Given the description of an element on the screen output the (x, y) to click on. 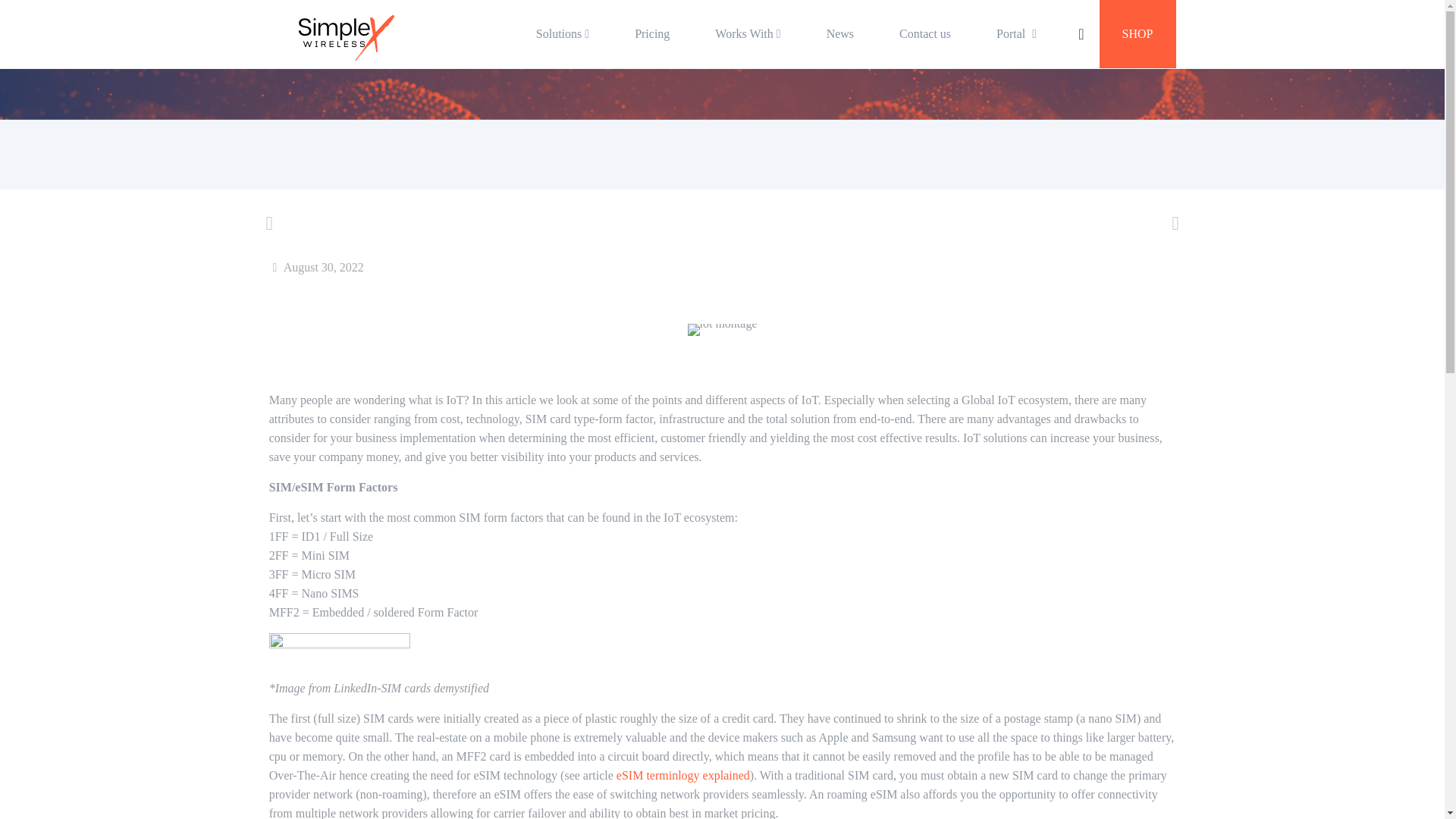
Contact us (925, 33)
eSIM terminlogy explained (682, 775)
Simplex Wireless (340, 38)
Portal (1018, 33)
Works With (748, 33)
News (839, 33)
SHOP (1137, 33)
Pricing (652, 33)
Solutions (562, 33)
